Given the description of an element on the screen output the (x, y) to click on. 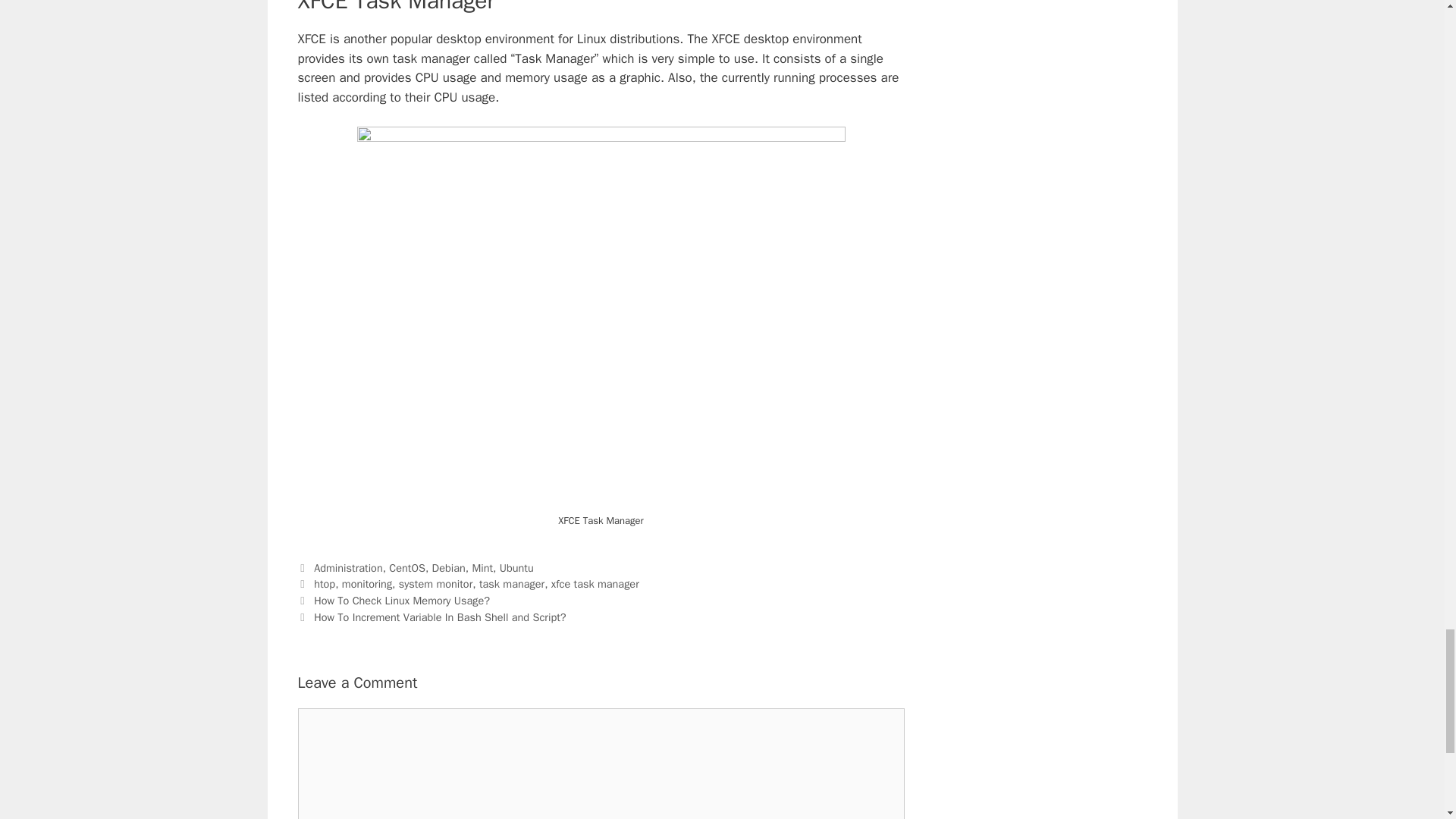
system monitor (434, 583)
How To Check Linux Memory Usage? (401, 600)
xfce task manager (595, 583)
CentOS (406, 567)
monitoring (366, 583)
Debian (448, 567)
Ubuntu (516, 567)
Administration (348, 567)
htop (324, 583)
How To Increment Variable In Bash Shell and Script? (440, 617)
Mint (482, 567)
task manager (511, 583)
